Given the description of an element on the screen output the (x, y) to click on. 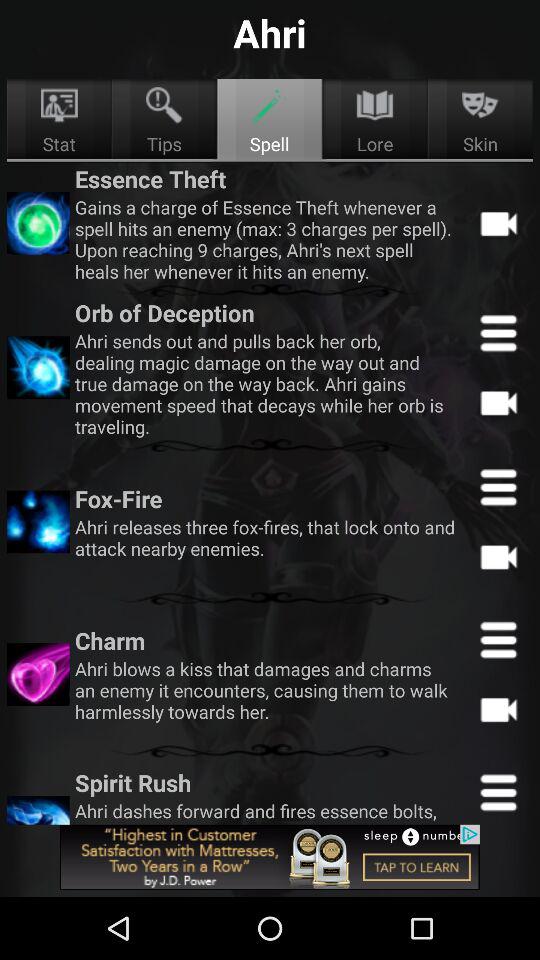
video player (498, 556)
